Given the description of an element on the screen output the (x, y) to click on. 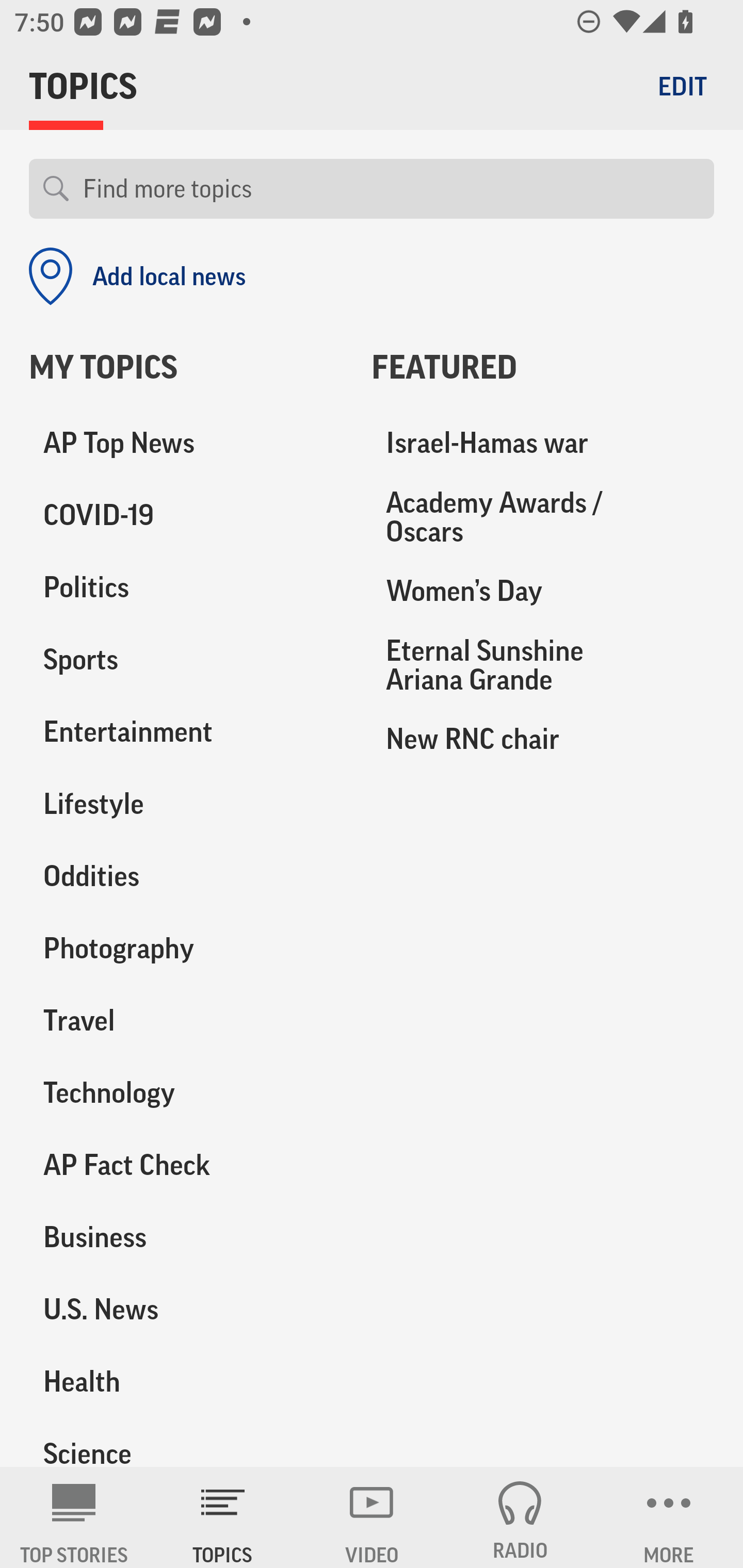
EDIT (682, 86)
Find more topics (391, 188)
Add local news (137, 276)
AP Top News (185, 443)
Israel-Hamas war (542, 443)
COVID-19 (185, 515)
Academy Awards / Oscars (542, 517)
Politics (185, 587)
Women’s Day (542, 591)
Sports (185, 660)
Eternal Sunshine Ariana Grande (542, 664)
Entertainment (185, 732)
New RNC chair (542, 738)
Lifestyle (185, 804)
Oddities (185, 876)
Photography (185, 948)
Travel (185, 1020)
Technology (185, 1092)
AP Fact Check (185, 1164)
Business (185, 1237)
U.S. News (185, 1309)
Health (185, 1381)
Science (185, 1442)
AP News TOP STORIES (74, 1517)
TOPICS (222, 1517)
VIDEO (371, 1517)
RADIO (519, 1517)
MORE (668, 1517)
